Given the description of an element on the screen output the (x, y) to click on. 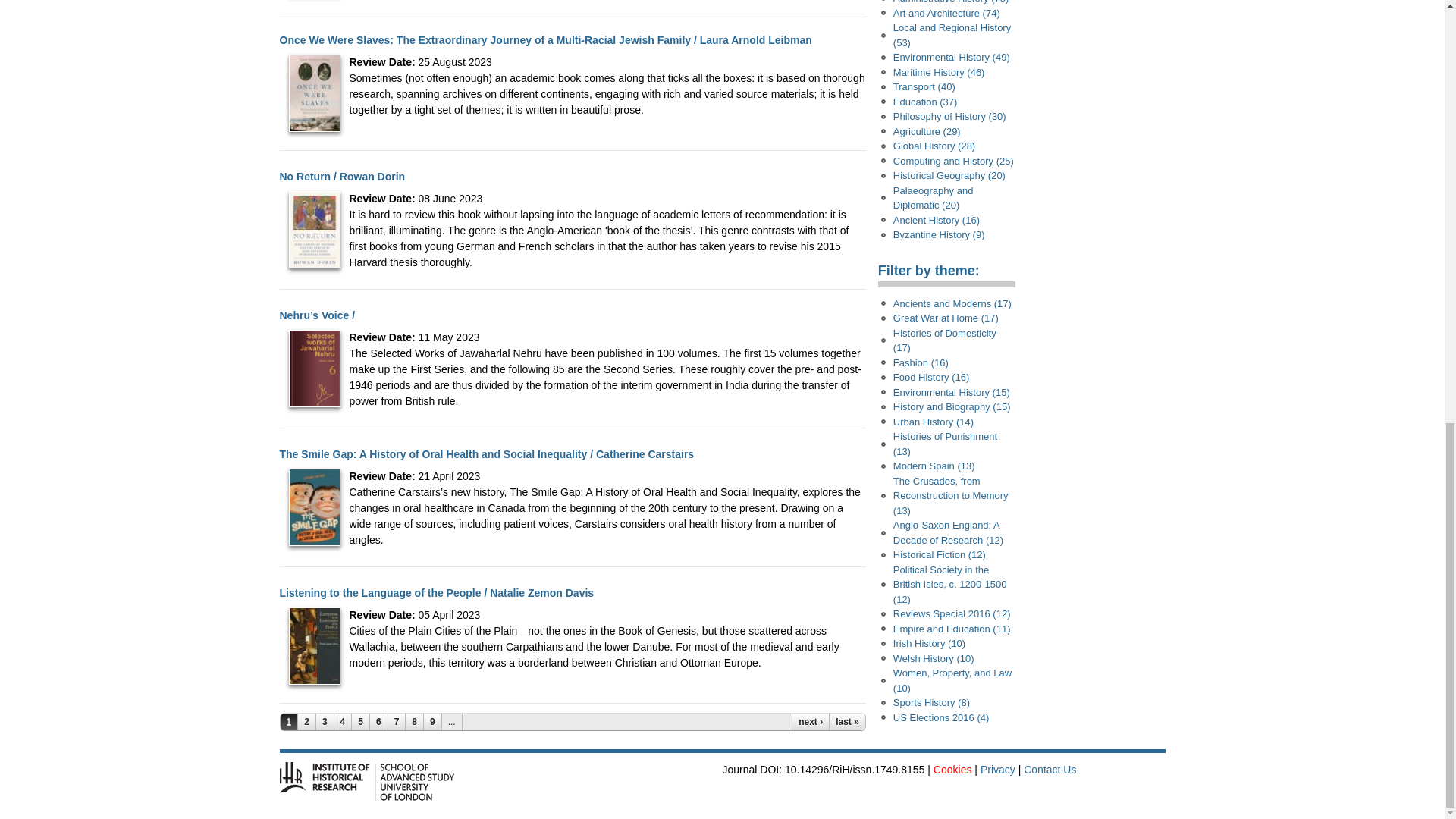
5 (360, 721)
7 (397, 721)
2 (306, 721)
8 (414, 721)
4 (343, 721)
3 (324, 721)
9 (432, 721)
6 (378, 721)
